Given the description of an element on the screen output the (x, y) to click on. 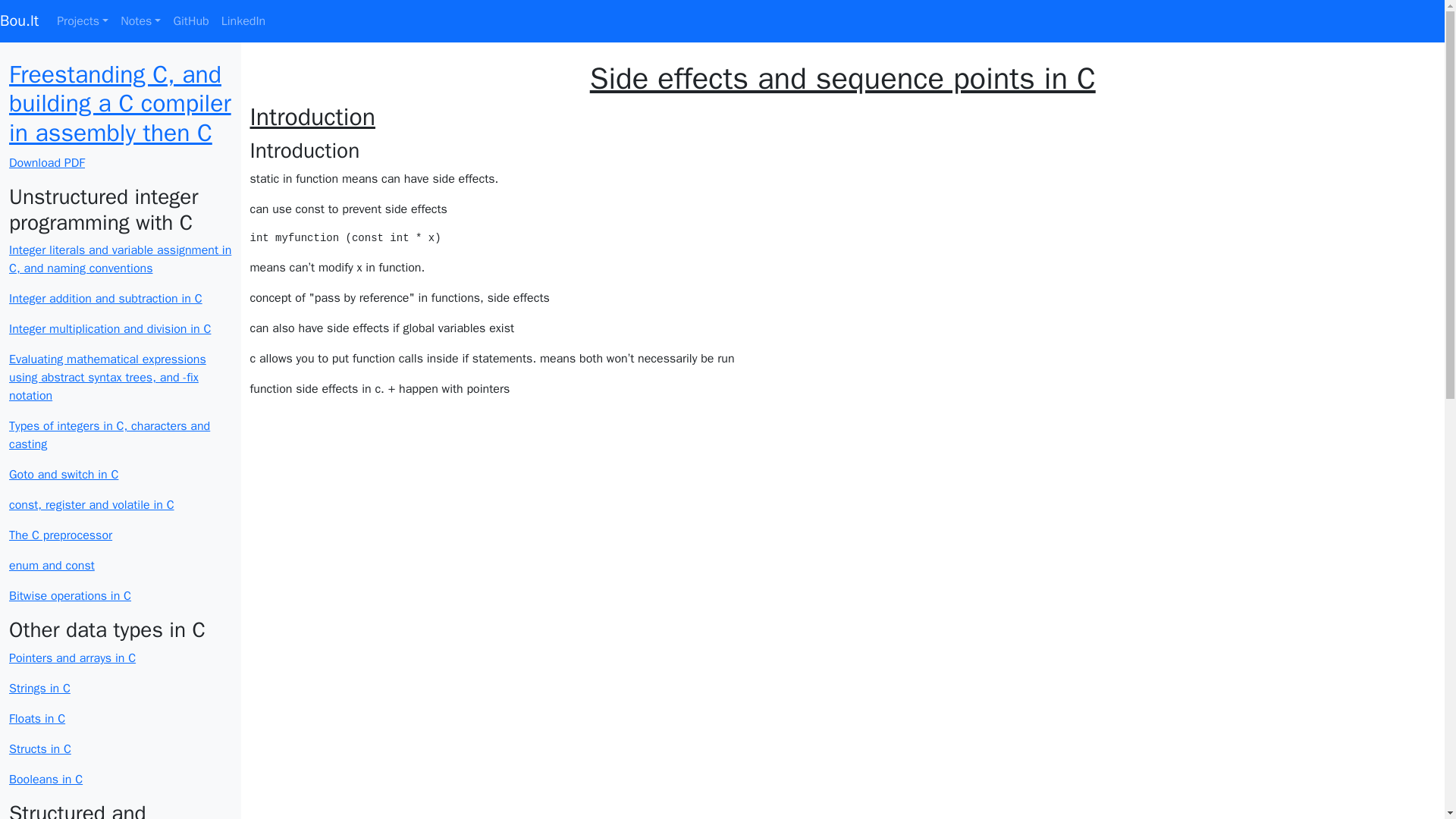
Notes (141, 20)
Bou.lt (19, 20)
Projects (82, 20)
